Given the description of an element on the screen output the (x, y) to click on. 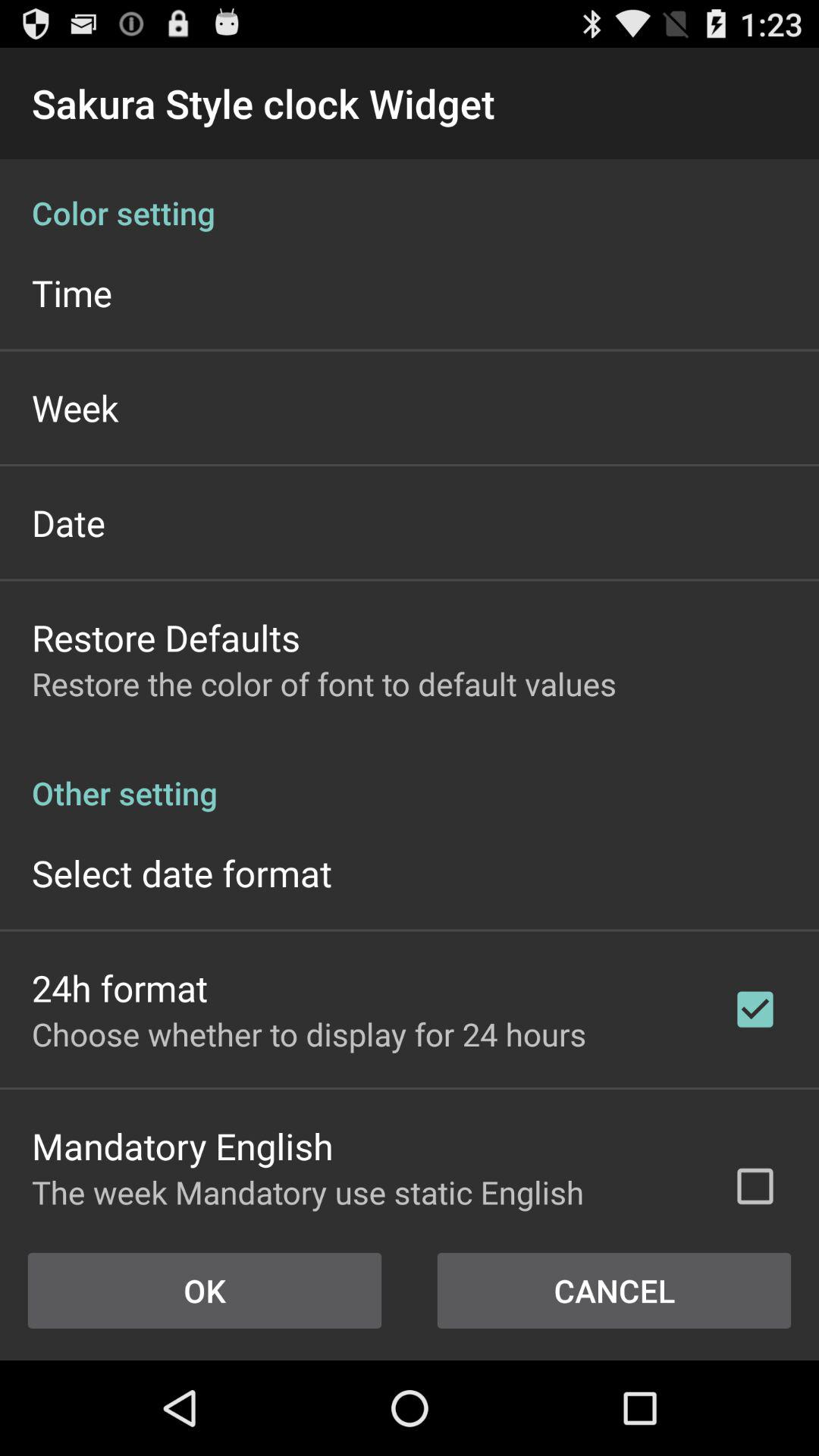
open app at the top (409, 196)
